Given the description of an element on the screen output the (x, y) to click on. 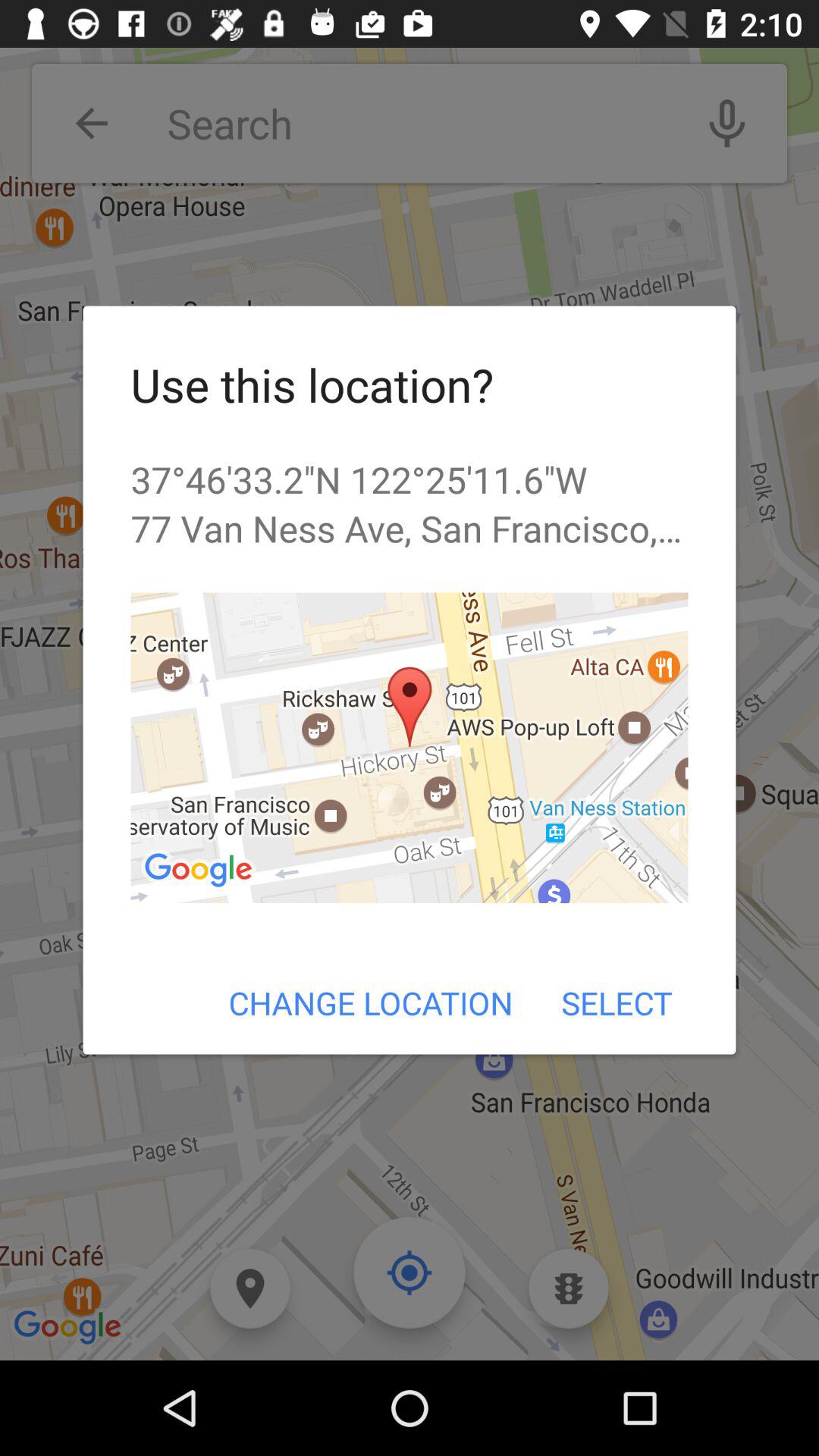
click the item to the left of select item (370, 1002)
